Given the description of an element on the screen output the (x, y) to click on. 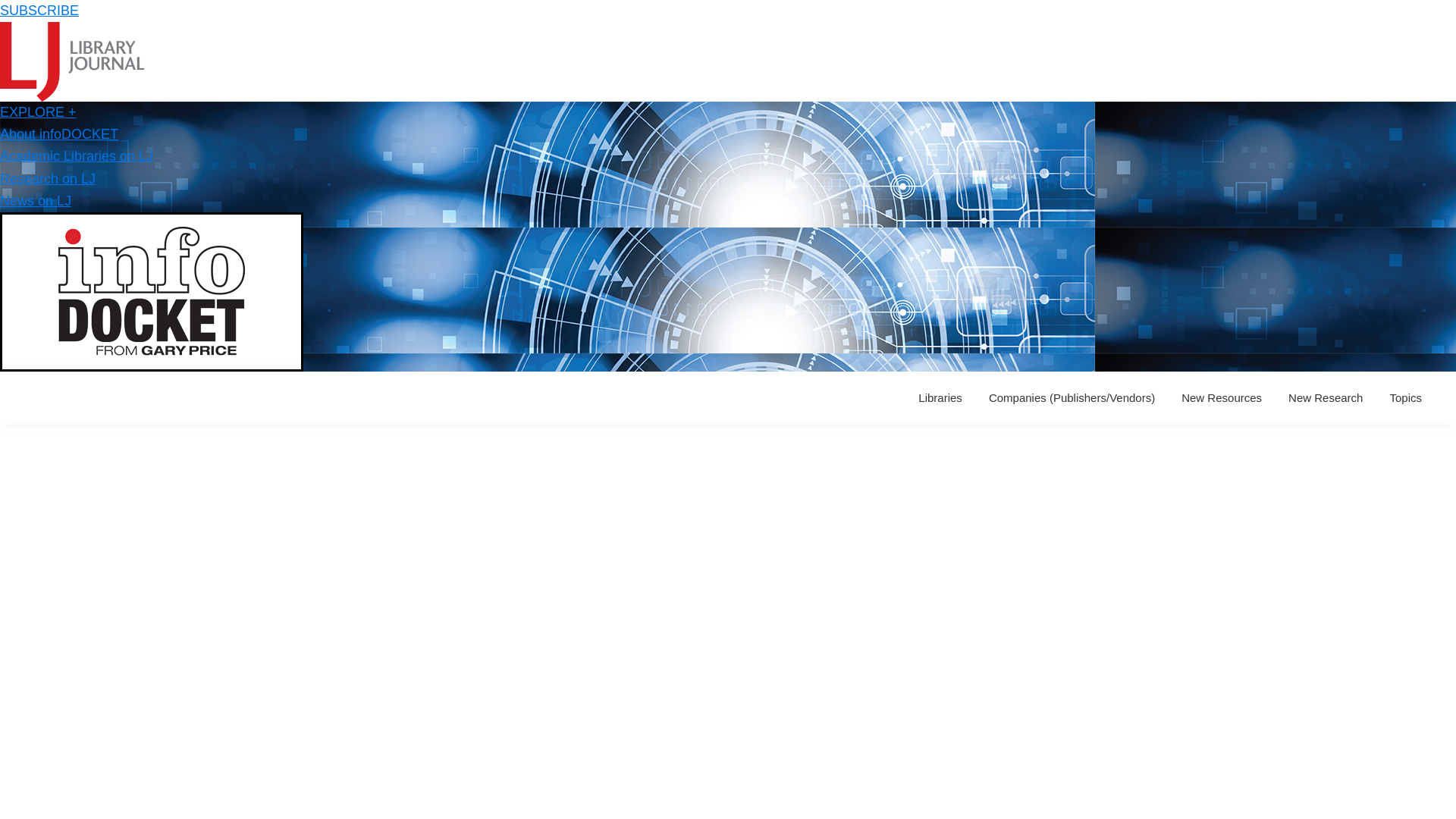
Research on LJ (48, 178)
Libraries (940, 397)
New Resources (1221, 397)
About infoDOCKET (58, 133)
SUBSCRIBE (39, 10)
Academic Libraries on LJ (76, 155)
New Research (1325, 397)
News on LJ (35, 200)
